Given the description of an element on the screen output the (x, y) to click on. 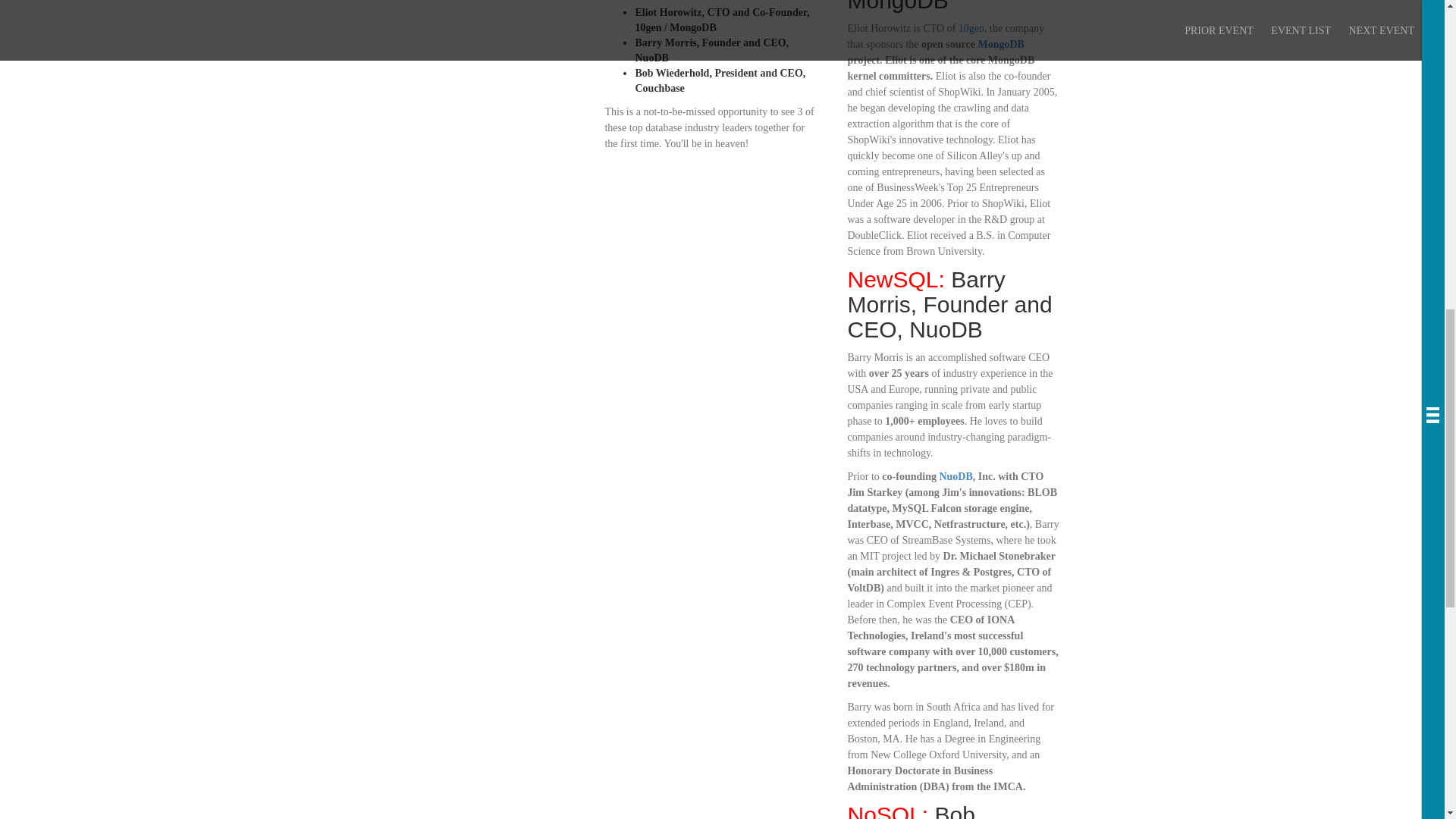
10gen (971, 28)
NuoDB (955, 476)
NuoDB (955, 476)
MongoDB (1001, 43)
MongoDB (1001, 43)
10gen (971, 28)
